Given the description of an element on the screen output the (x, y) to click on. 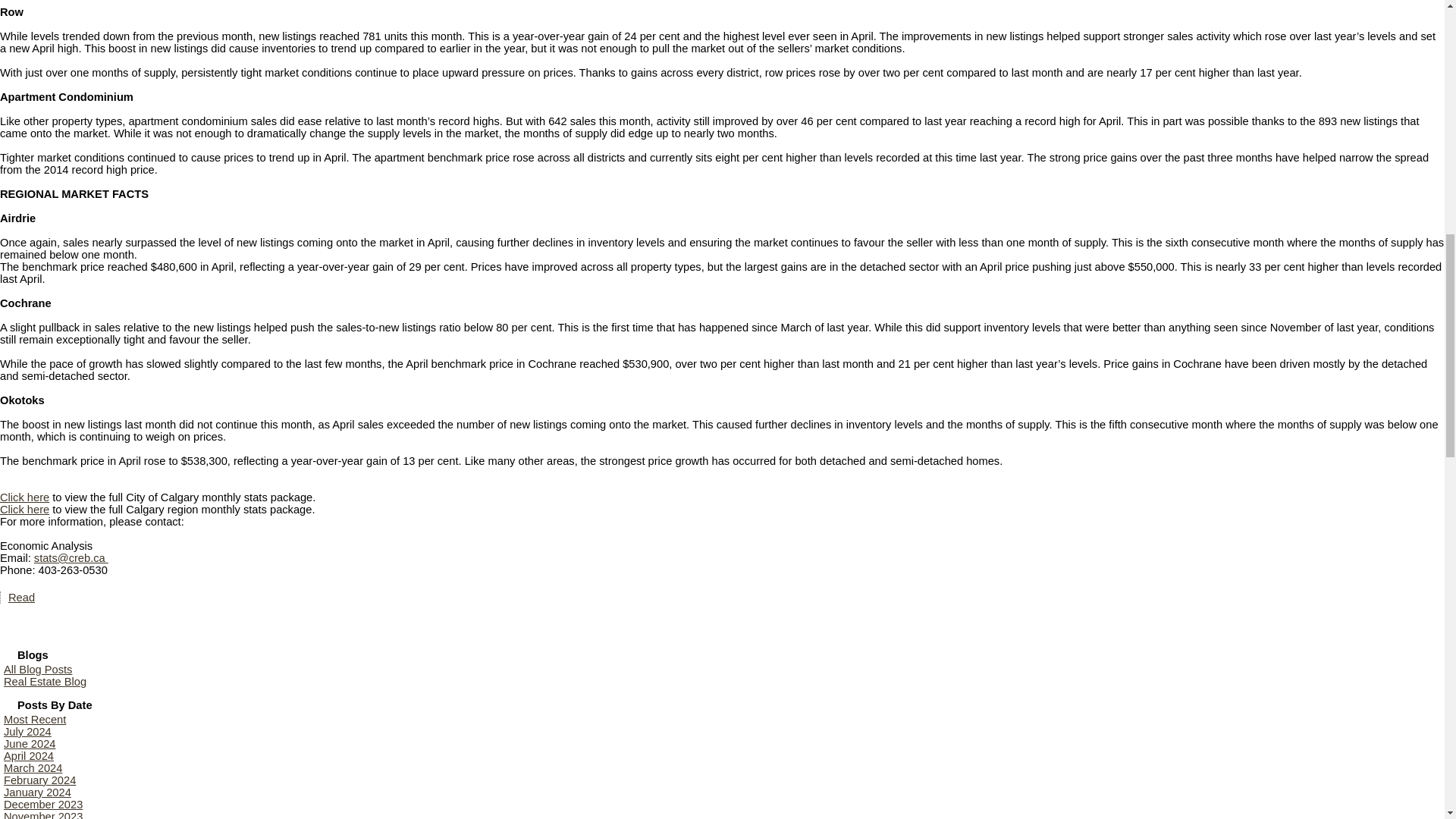
Click here (24, 497)
Click here (24, 509)
